Given the description of an element on the screen output the (x, y) to click on. 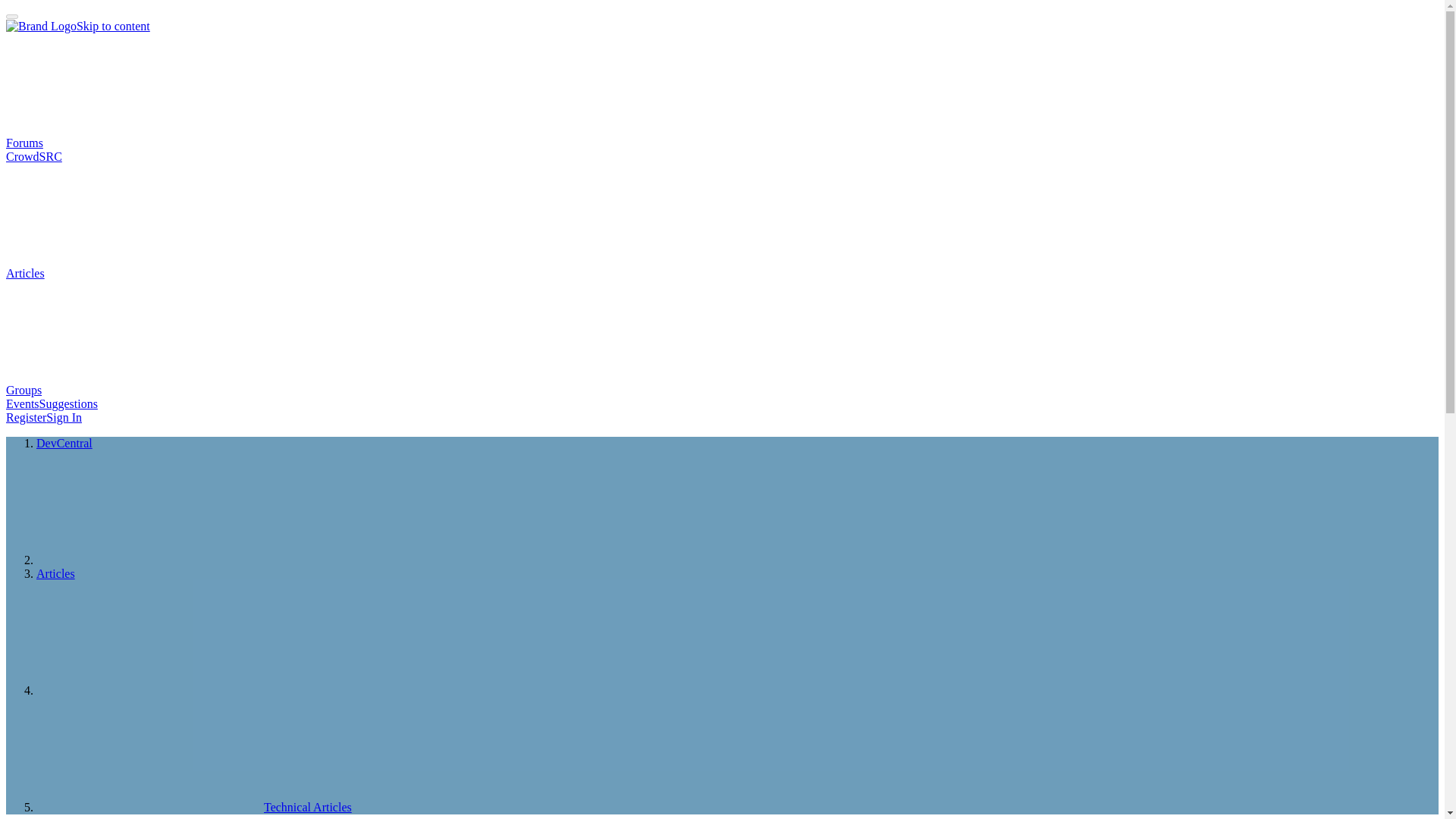
CrowdSRC (33, 155)
Skip to content (113, 25)
Articles (138, 273)
Suggestions (68, 403)
Forums (137, 142)
Register (25, 417)
DevCentral (64, 442)
Articles (55, 573)
Sign In (63, 417)
Events (22, 403)
Groups (137, 390)
Technical Articles (194, 807)
